Given the description of an element on the screen output the (x, y) to click on. 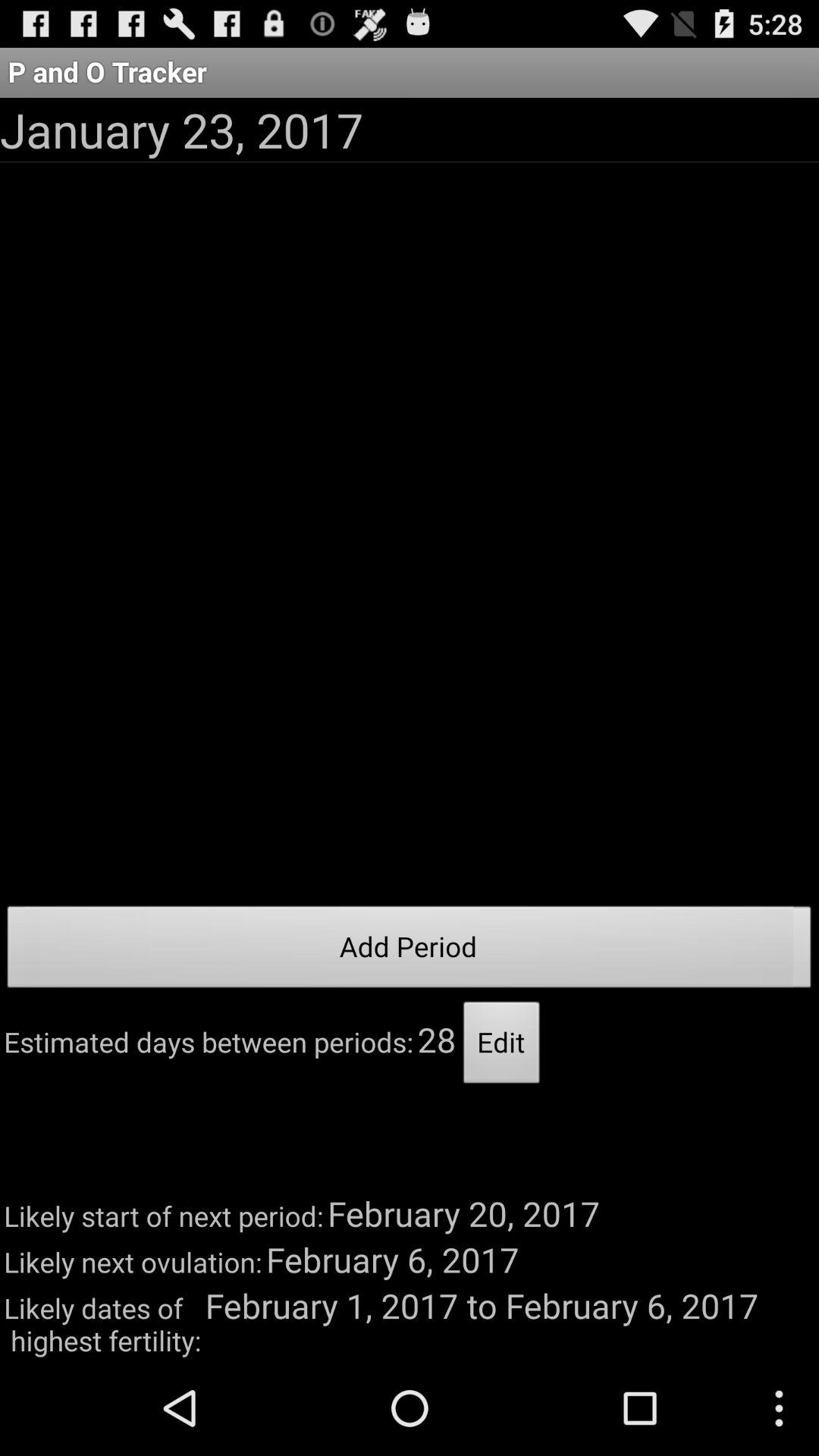
flip until january 23, 2017 (181, 129)
